Given the description of an element on the screen output the (x, y) to click on. 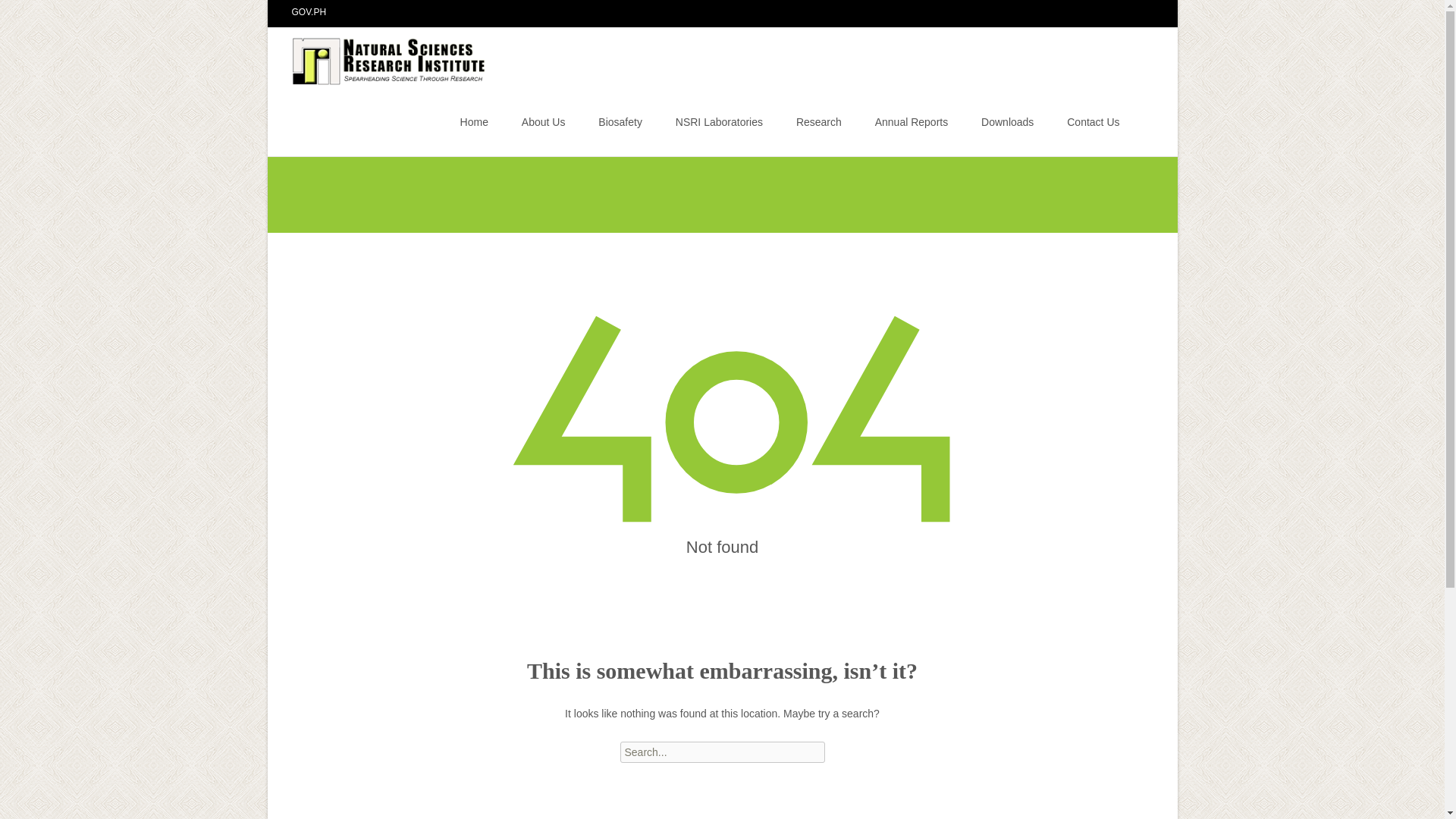
NSRI Laboratories (718, 121)
Search (18, 14)
Search (34, 14)
Search for: (722, 752)
GOV.PH (308, 11)
Search for: (1139, 123)
Natural Sciences Research Institute (378, 57)
Annual Reports (912, 121)
